Given the description of an element on the screen output the (x, y) to click on. 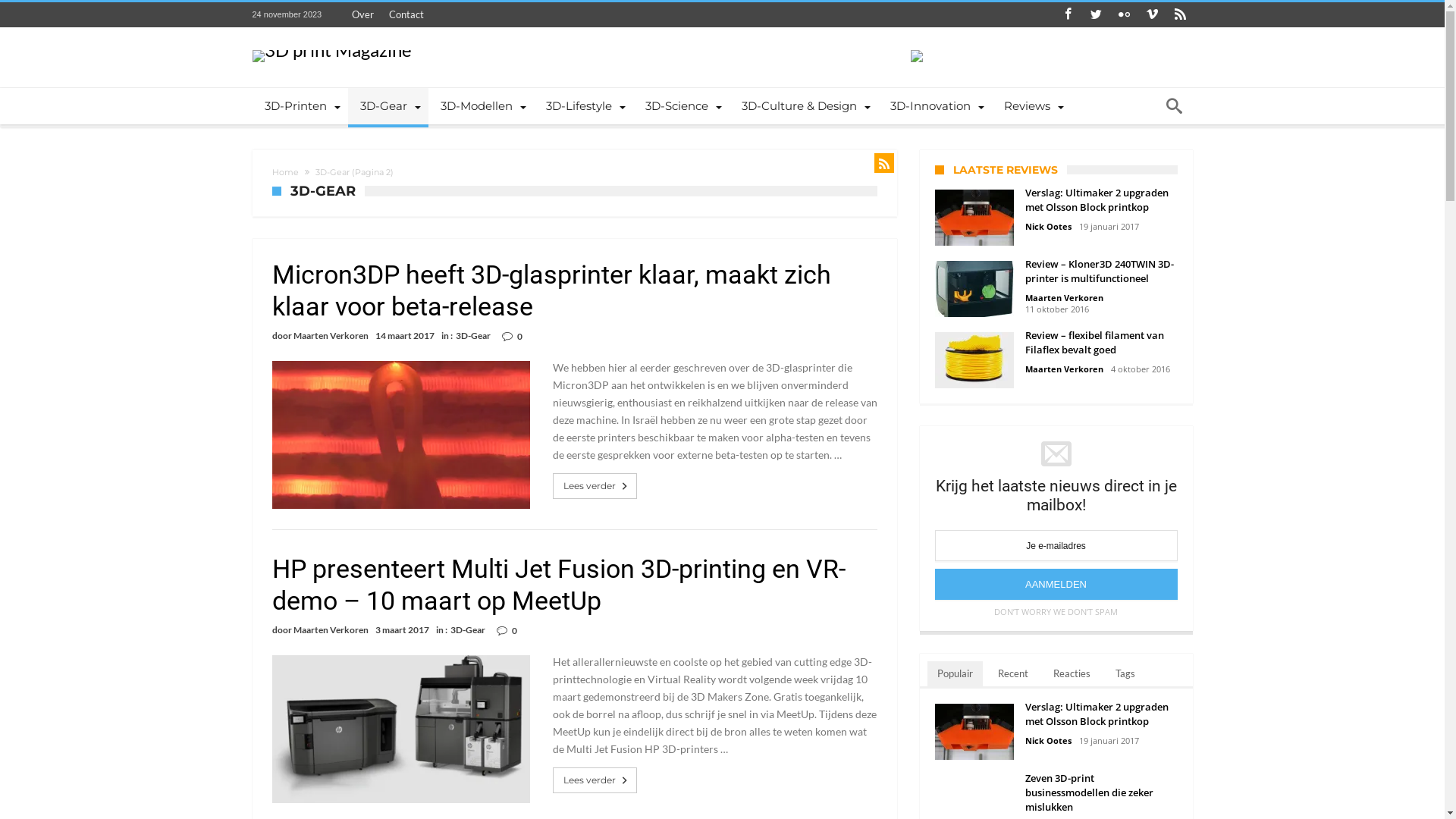
3D-Gear Element type: text (387, 105)
3D-Culture & Design Element type: text (803, 105)
3D-Lifestyle Element type: text (583, 105)
3D-Gear Element type: text (467, 629)
Rss Element type: hover (1179, 14)
Recent Element type: text (1012, 674)
AANMELDEN Element type: text (1055, 583)
3D-Printen Element type: text (299, 105)
Home Element type: text (284, 171)
0 Element type: text (513, 630)
Contact Element type: text (406, 14)
Nick Ootes Element type: text (1048, 740)
E-mail Element type: hover (1055, 545)
Nick Ootes Element type: text (1048, 226)
Maarten Verkoren Element type: text (1064, 297)
Facebook Element type: hover (1067, 14)
0 Element type: text (519, 336)
Lees verder Element type: text (595, 780)
3D-Innovation Element type: text (934, 105)
Flickr Element type: hover (1123, 14)
Over Element type: text (362, 14)
3D-Gear Element type: text (472, 335)
Twitter Element type: hover (1096, 14)
Verslag: Ultimaker 2 upgraden met Olsson Block printkop Element type: text (1101, 721)
Maarten Verkoren Element type: text (1064, 368)
Populair Element type: text (954, 674)
Maarten Verkoren Element type: text (329, 335)
Maarten Verkoren Element type: text (329, 630)
3D print Magazine Element type: hover (331, 49)
Reacties Element type: text (1071, 674)
3D-Modellen Element type: text (480, 105)
Reviews Element type: text (1031, 105)
3D-Science Element type: text (680, 105)
Verslag: Ultimaker 2 upgraden met Olsson Block printkop Element type: text (1101, 206)
Zeven 3D-print businessmodellen die zeker mislukken Element type: text (1101, 806)
Vimeo Element type: hover (1152, 14)
Lees verder Element type: text (595, 485)
Tags Element type: text (1125, 674)
